Given the description of an element on the screen output the (x, y) to click on. 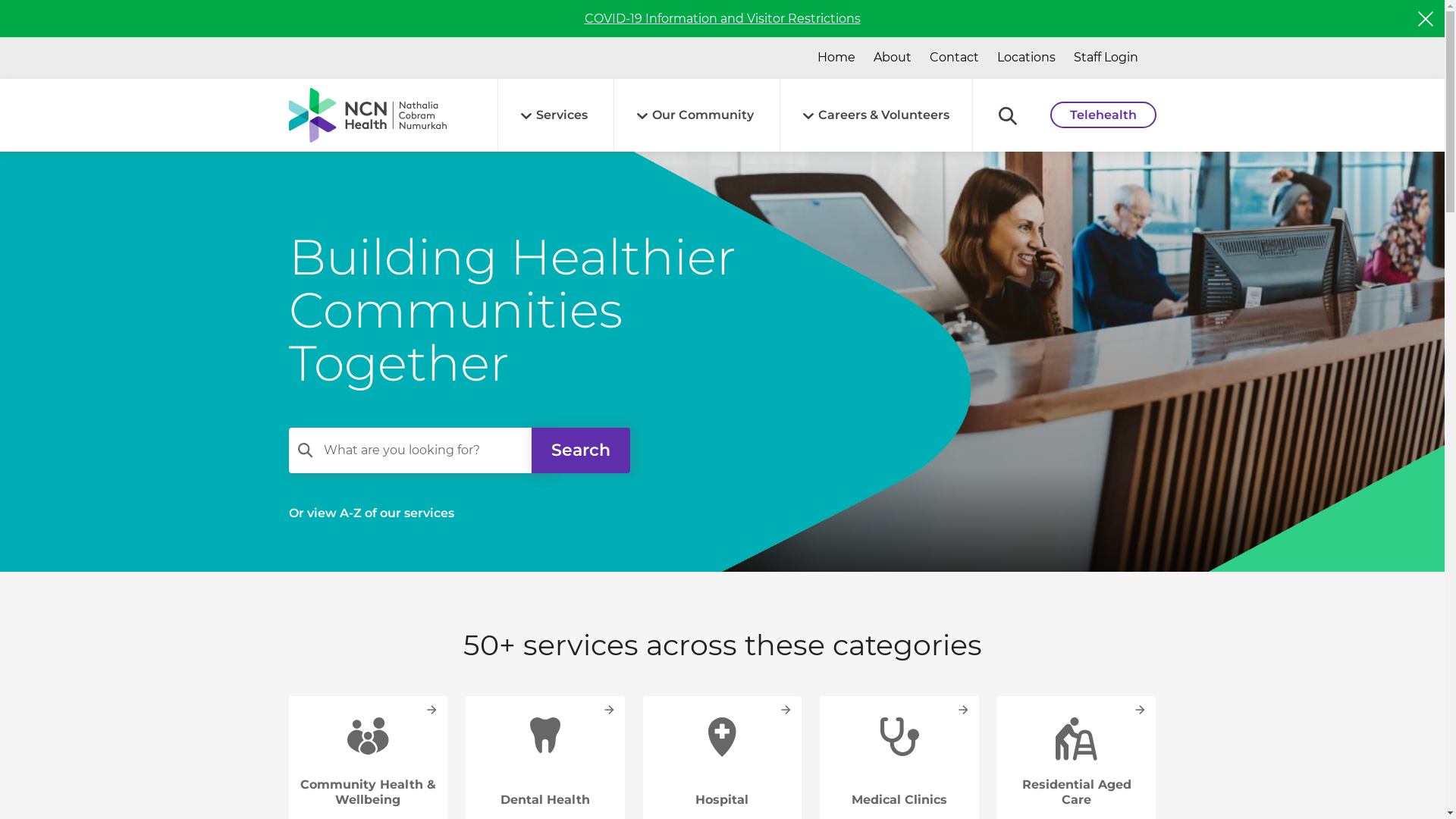
Or view A-Z of our services Element type: text (370, 514)
COVID-19 Information and Visitor Restrictions Element type: text (721, 18)
Careers & Volunteers Element type: text (875, 114)
Locations Element type: text (1025, 57)
Telehealth Element type: text (1102, 114)
Home Element type: text (836, 57)
Staff Login Element type: text (1105, 57)
About Element type: text (892, 57)
Contact Element type: text (954, 57)
Search for: Element type: hover (420, 450)
Search Element type: text (579, 450)
Services Element type: text (553, 114)
Submit Element type: text (716, 470)
Our Community Element type: text (695, 114)
